Given the description of an element on the screen output the (x, y) to click on. 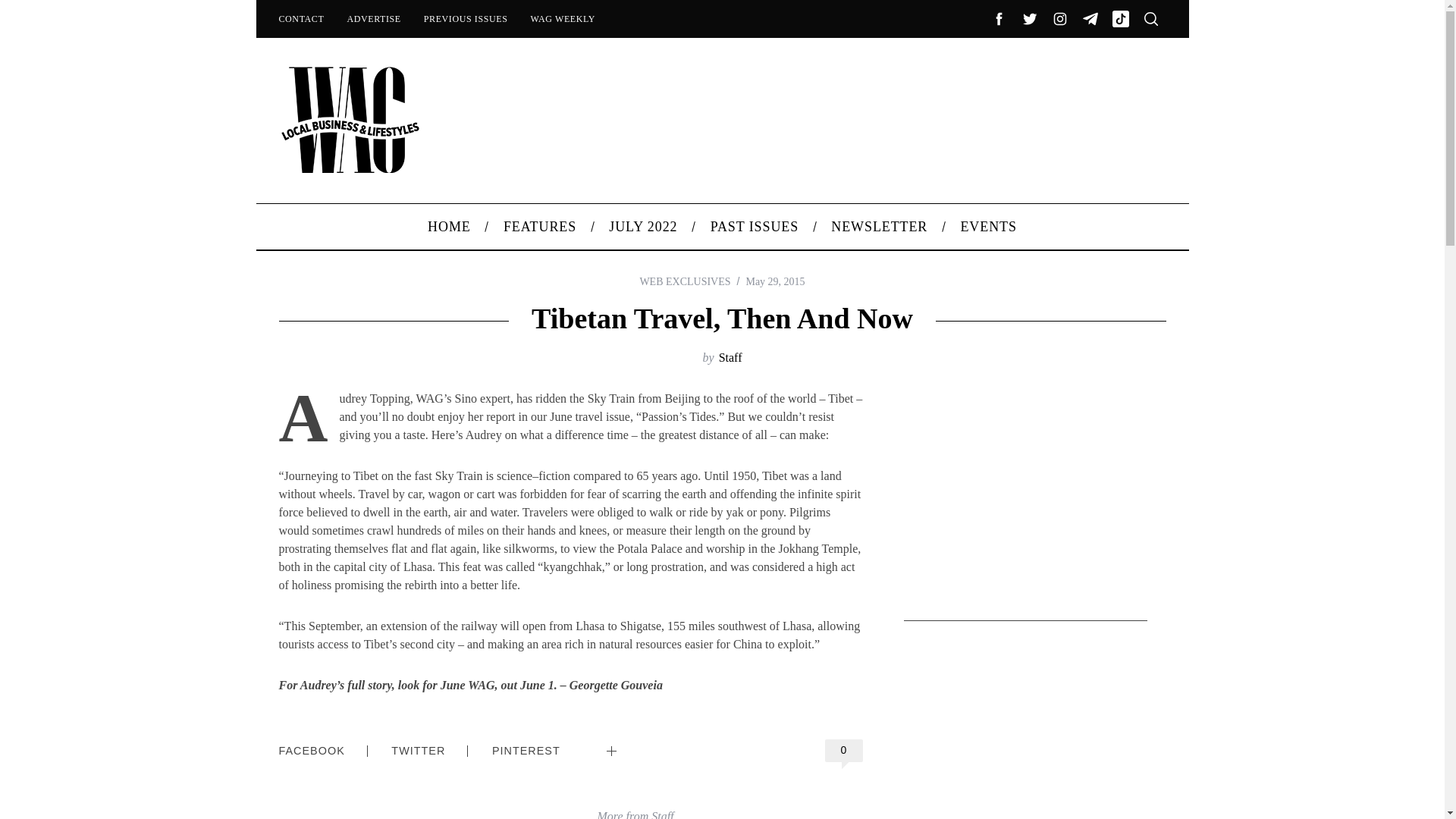
PAST ISSUES (754, 226)
ADVERTISE (373, 18)
FEATURES (539, 226)
JULY 2022 (643, 226)
CONTACT (300, 18)
HOME (449, 226)
PREVIOUS ISSUES (465, 18)
WAG WEEKLY (562, 18)
